Given the description of an element on the screen output the (x, y) to click on. 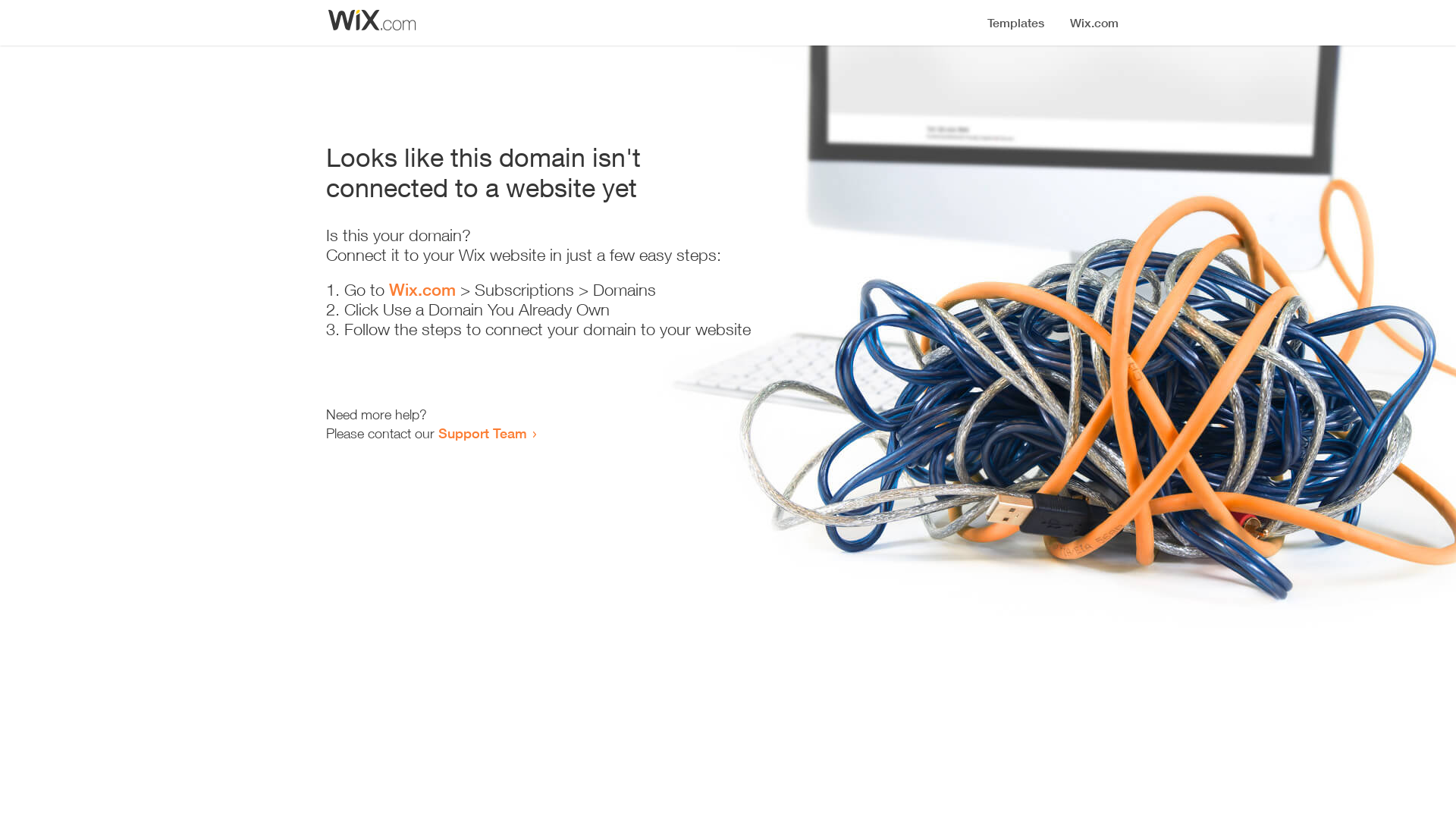
Wix.com Element type: text (422, 289)
Support Team Element type: text (482, 432)
